Given the description of an element on the screen output the (x, y) to click on. 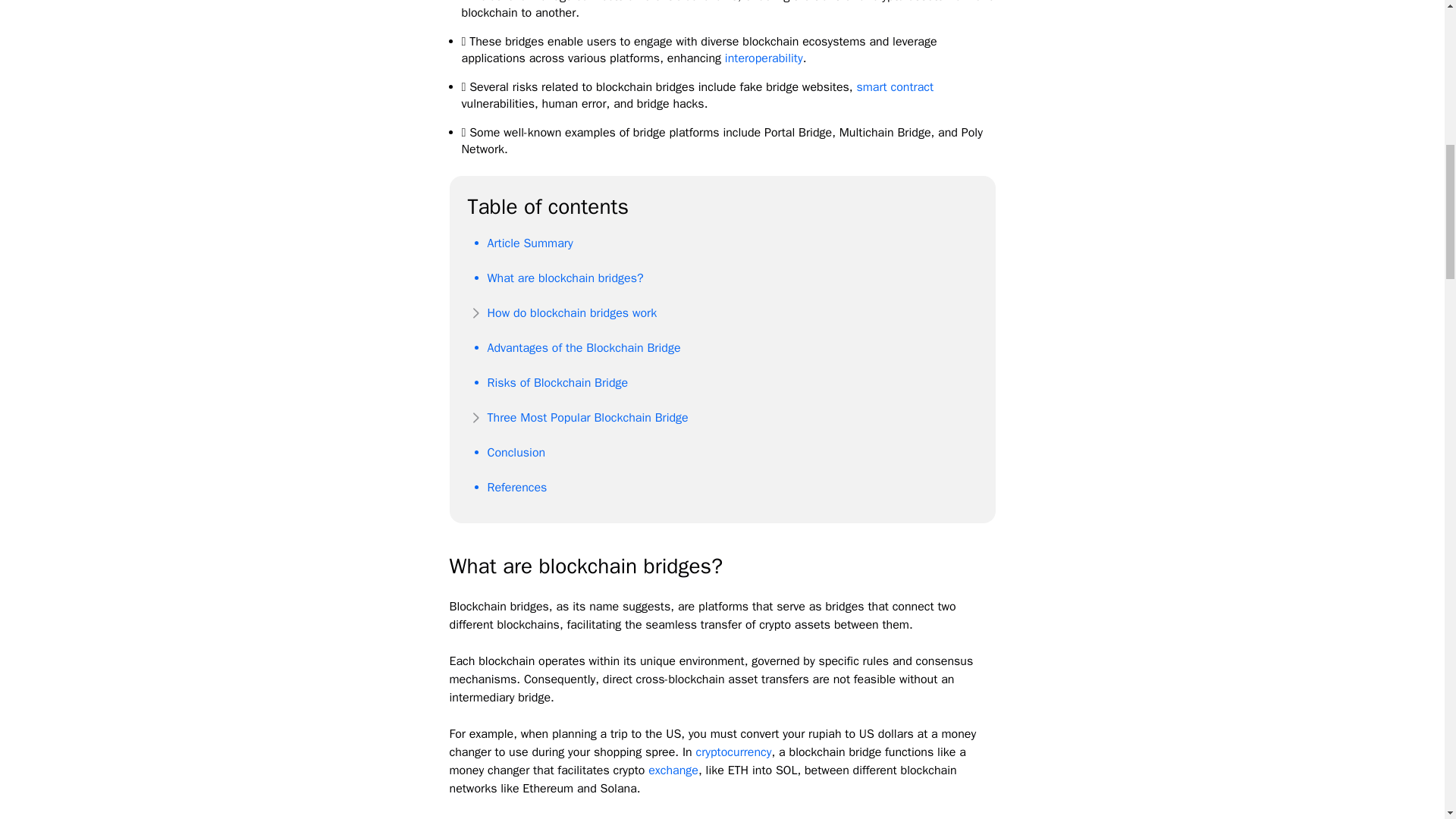
Three Most Popular Blockchain Bridge (586, 417)
smart contract (894, 87)
Risks of Blockchain Bridge (556, 382)
Three Most Popular Blockchain Bridge (586, 417)
References (516, 487)
exchange (672, 770)
Conclusion (515, 452)
Article Summary (529, 242)
cryptocurrency (733, 752)
Conclusion (515, 452)
What are blockchain bridges? (564, 278)
How do blockchain bridges work (571, 313)
Advantages of the Blockchain Bridge (582, 347)
interoperability (764, 58)
